Given the description of an element on the screen output the (x, y) to click on. 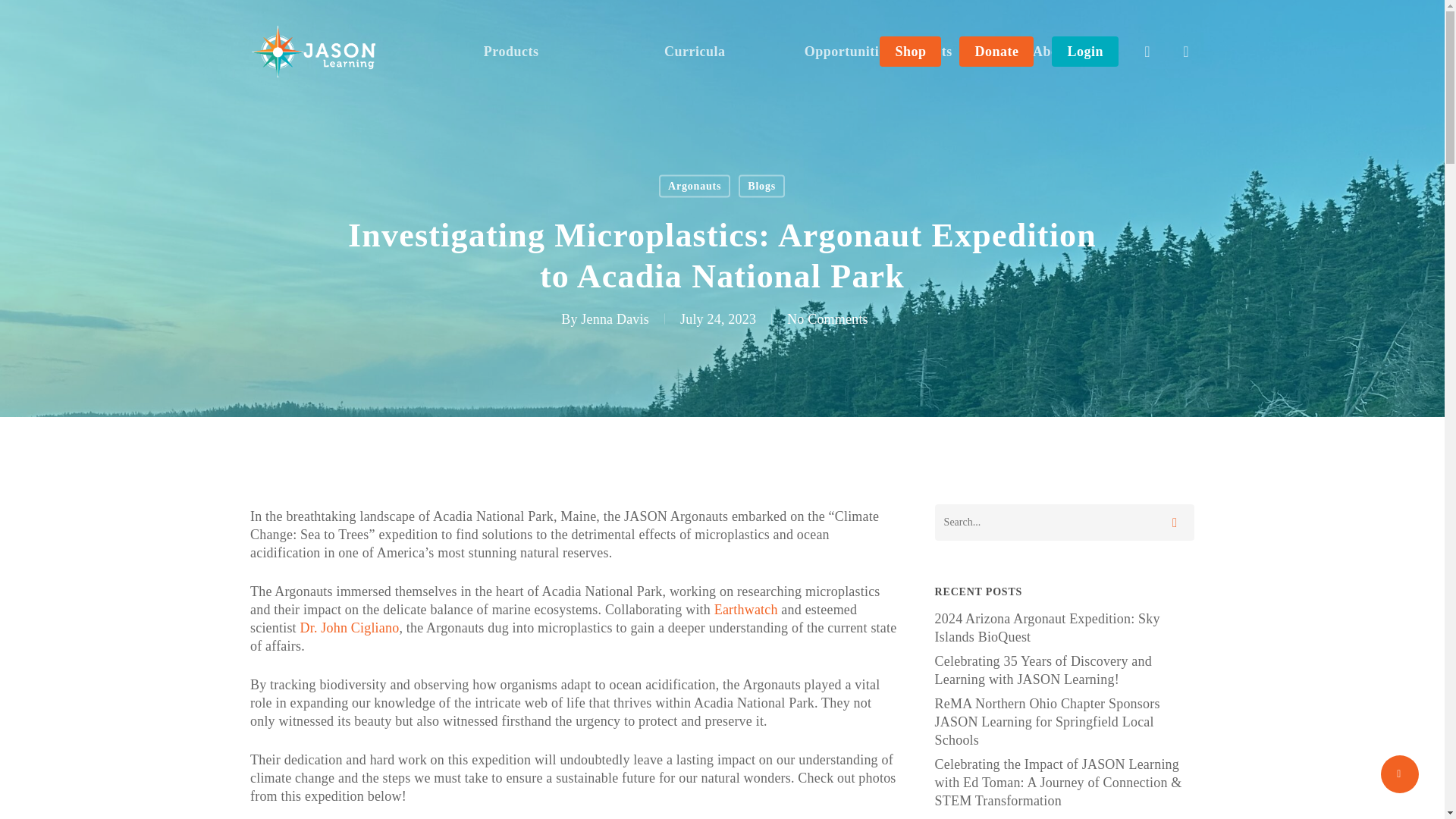
Products (511, 51)
Posts by Jenna Davis (614, 318)
Curricula (694, 51)
Search for: (1063, 522)
